Given the description of an element on the screen output the (x, y) to click on. 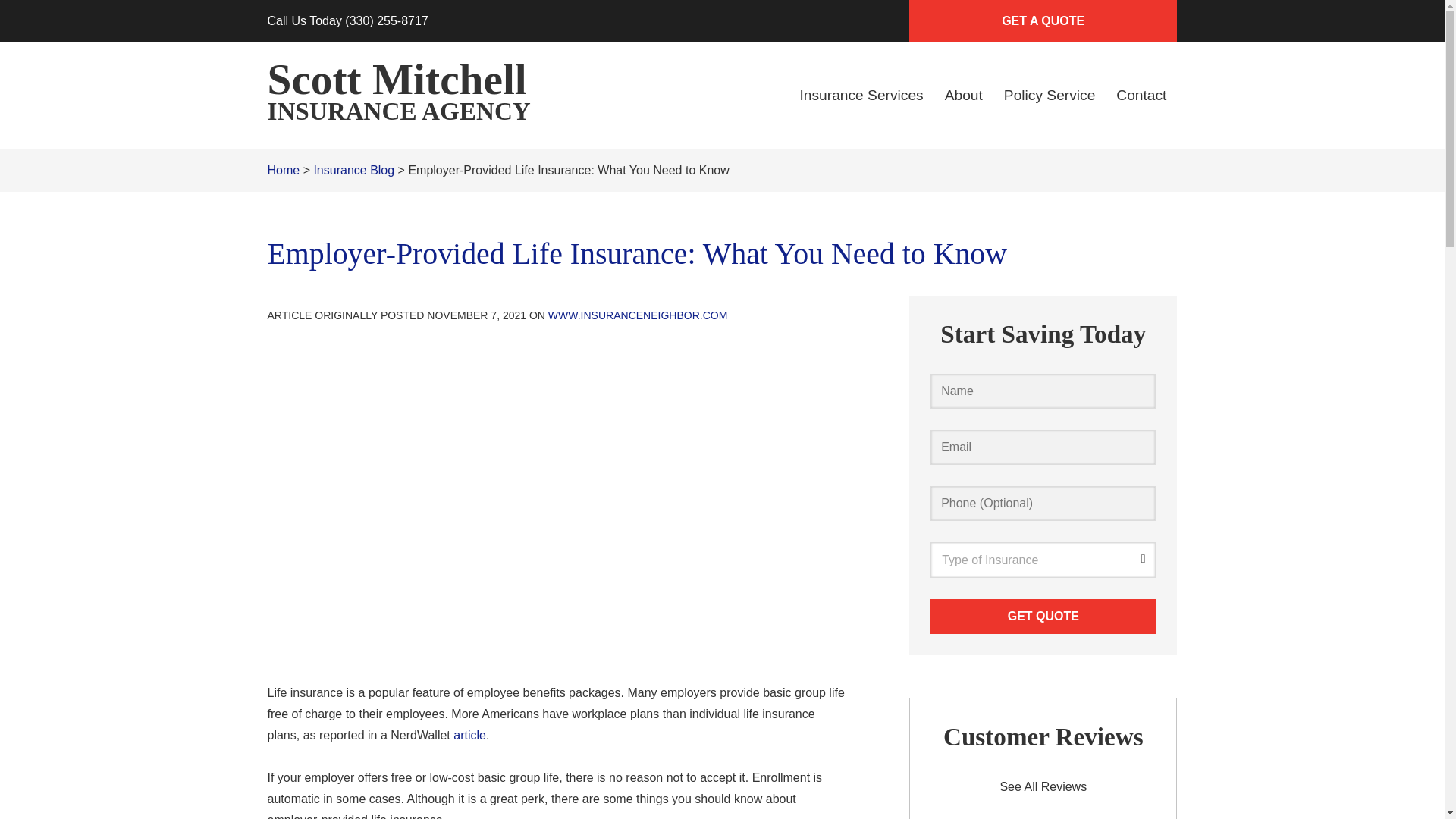
Home Page (411, 95)
Policy Service (1049, 94)
Get Quote (1043, 615)
About (963, 94)
Insurance Services (861, 94)
GET A QUOTE (1042, 21)
